Given the description of an element on the screen output the (x, y) to click on. 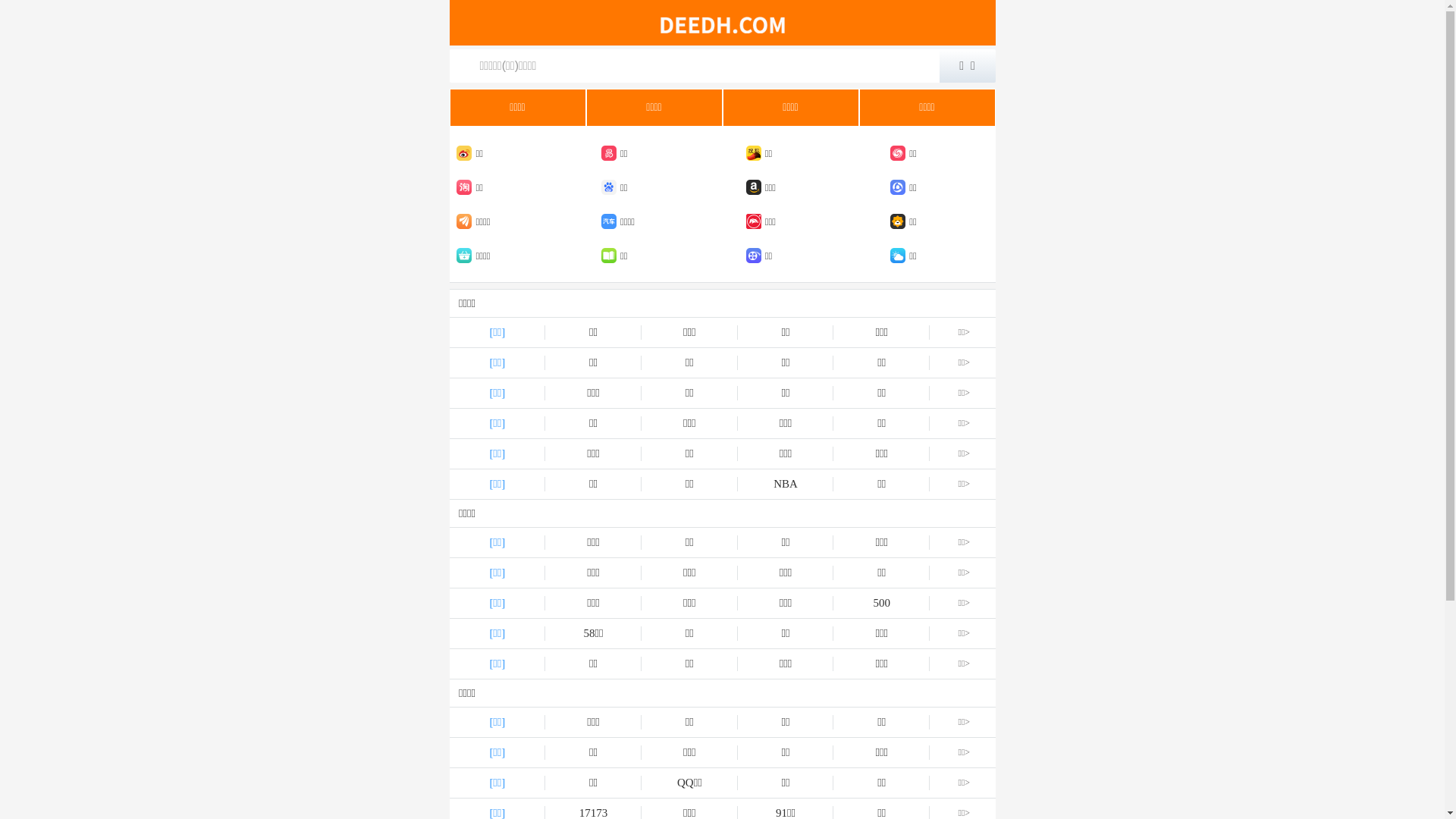
NBA Element type: text (785, 483)
500 Element type: text (881, 603)
